Given the description of an element on the screen output the (x, y) to click on. 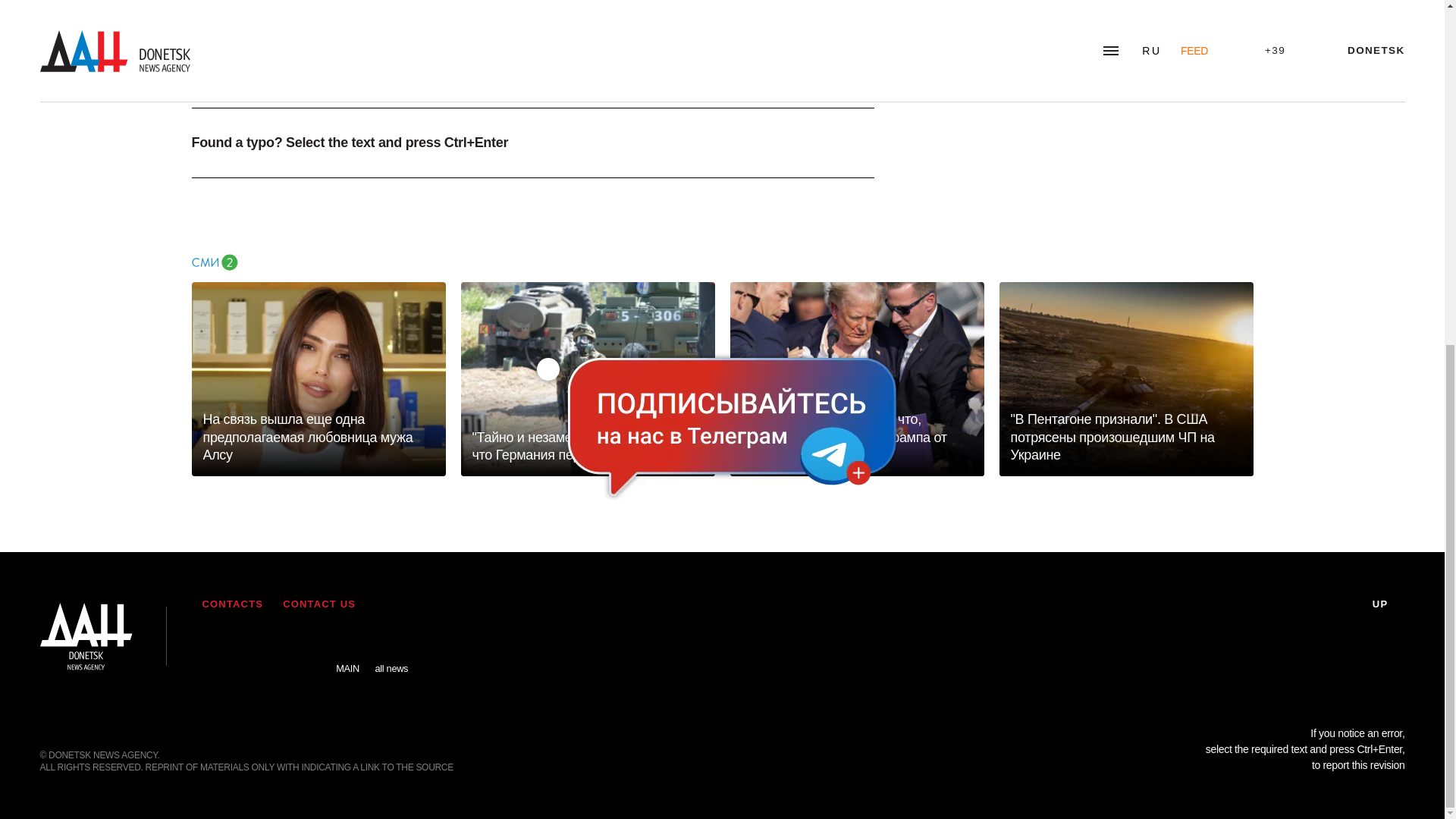
UP (1389, 604)
CONTACTS (232, 603)
all news (390, 656)
Odnoklassniki (304, 644)
RSS (217, 644)
CONTACT US (318, 603)
VKontakte (262, 644)
UP (1389, 604)
